Given the description of an element on the screen output the (x, y) to click on. 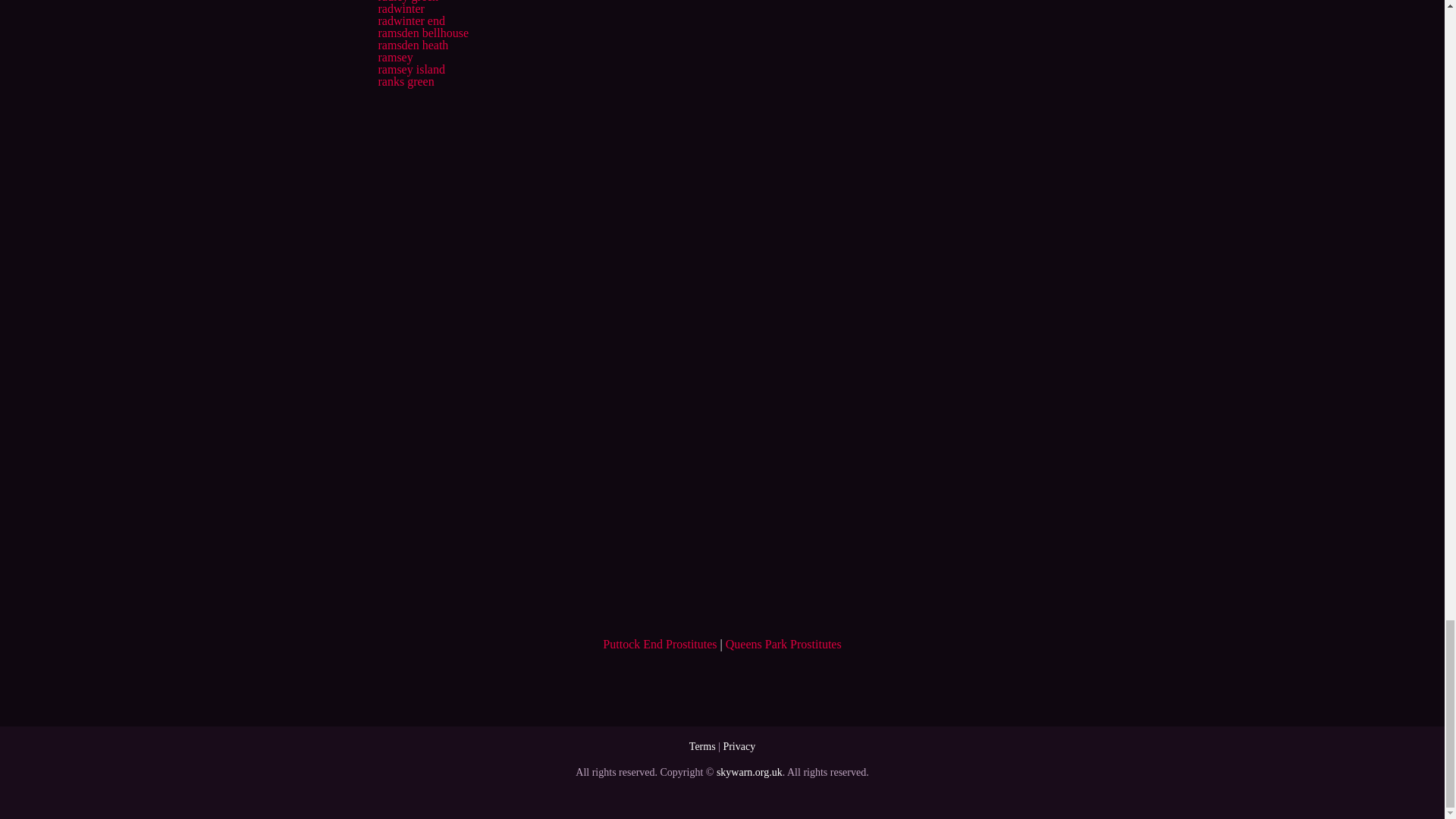
Puttock End Prostitutes (659, 644)
Terms (702, 746)
ramsey island (410, 69)
ranks green (405, 81)
Queens Park Prostitutes (783, 644)
Privacy (738, 746)
Terms (702, 746)
skywarn.org.uk (749, 772)
ramsden heath (412, 44)
radwinter end (410, 20)
radwinter (400, 8)
ramsden bellhouse (422, 32)
radley green (407, 1)
ramsey (394, 56)
Privacy (738, 746)
